Given the description of an element on the screen output the (x, y) to click on. 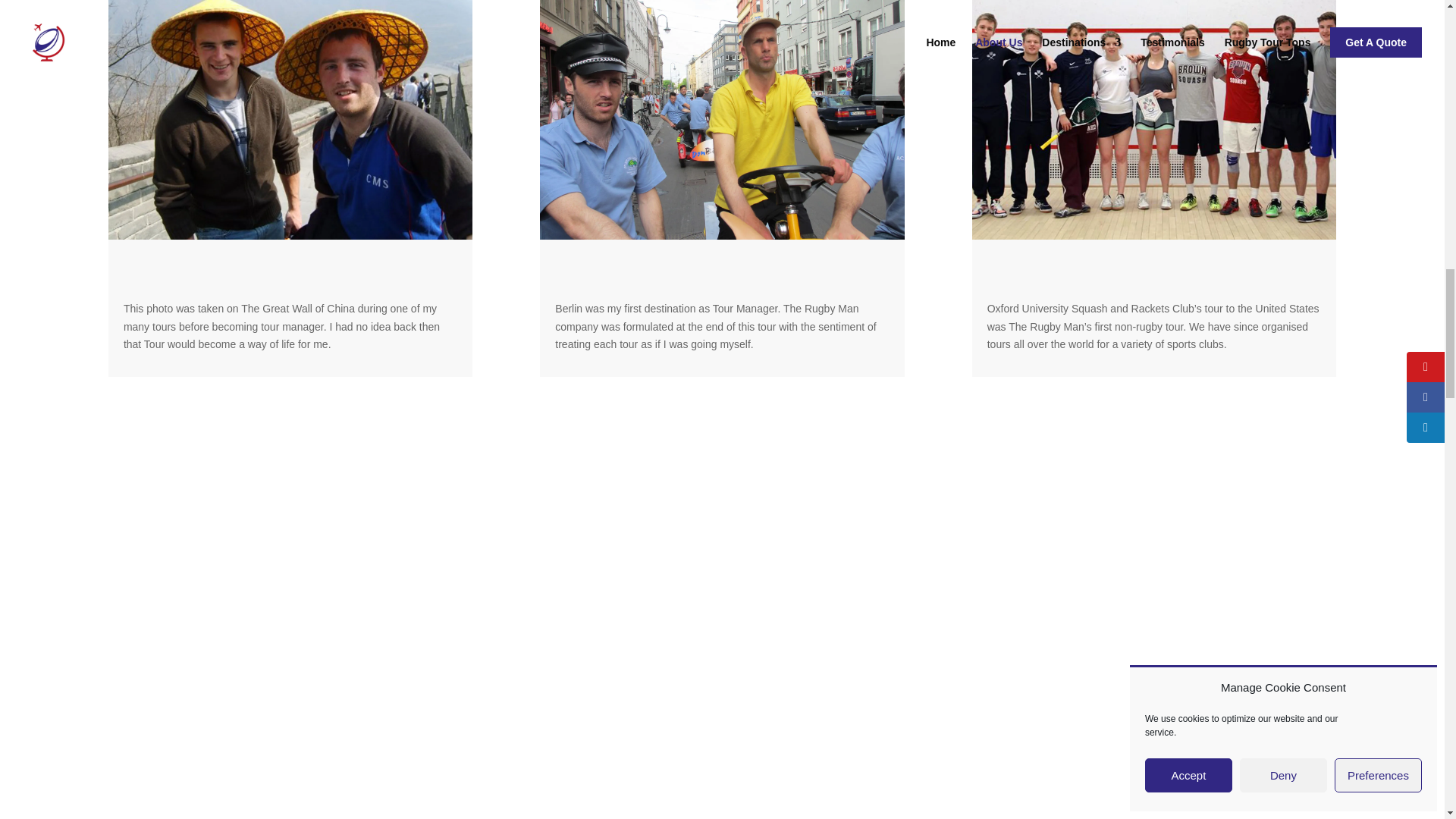
second-tour (722, 119)
third-tour (1154, 119)
First-tour (289, 119)
